Given the description of an element on the screen output the (x, y) to click on. 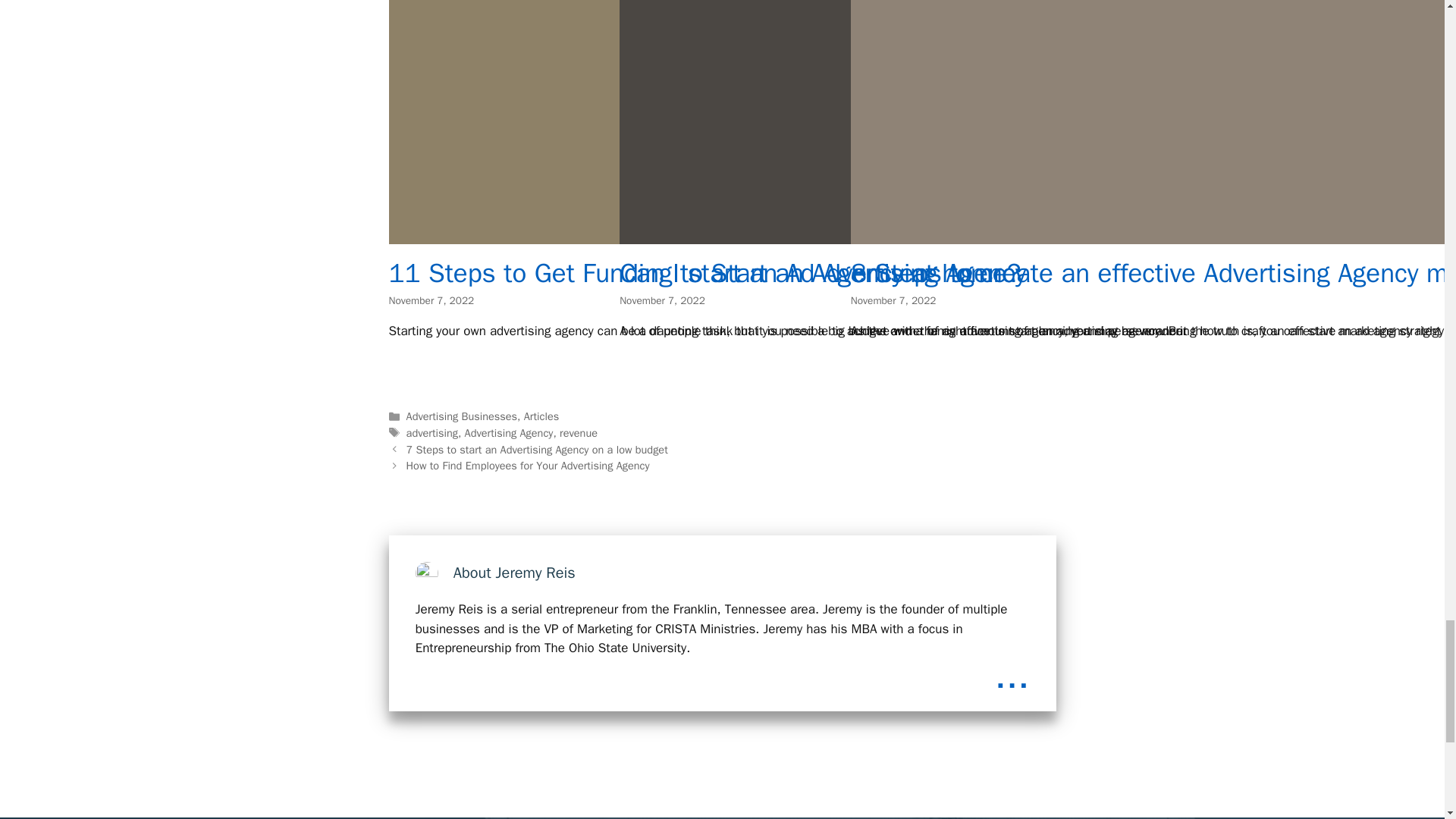
Can I start an Ad Agency at home? (1038, 233)
11:27 pm (662, 300)
11:46 pm (431, 300)
11 Steps to Get Funding to Start an Advertising Agency (922, 233)
